Given the description of an element on the screen output the (x, y) to click on. 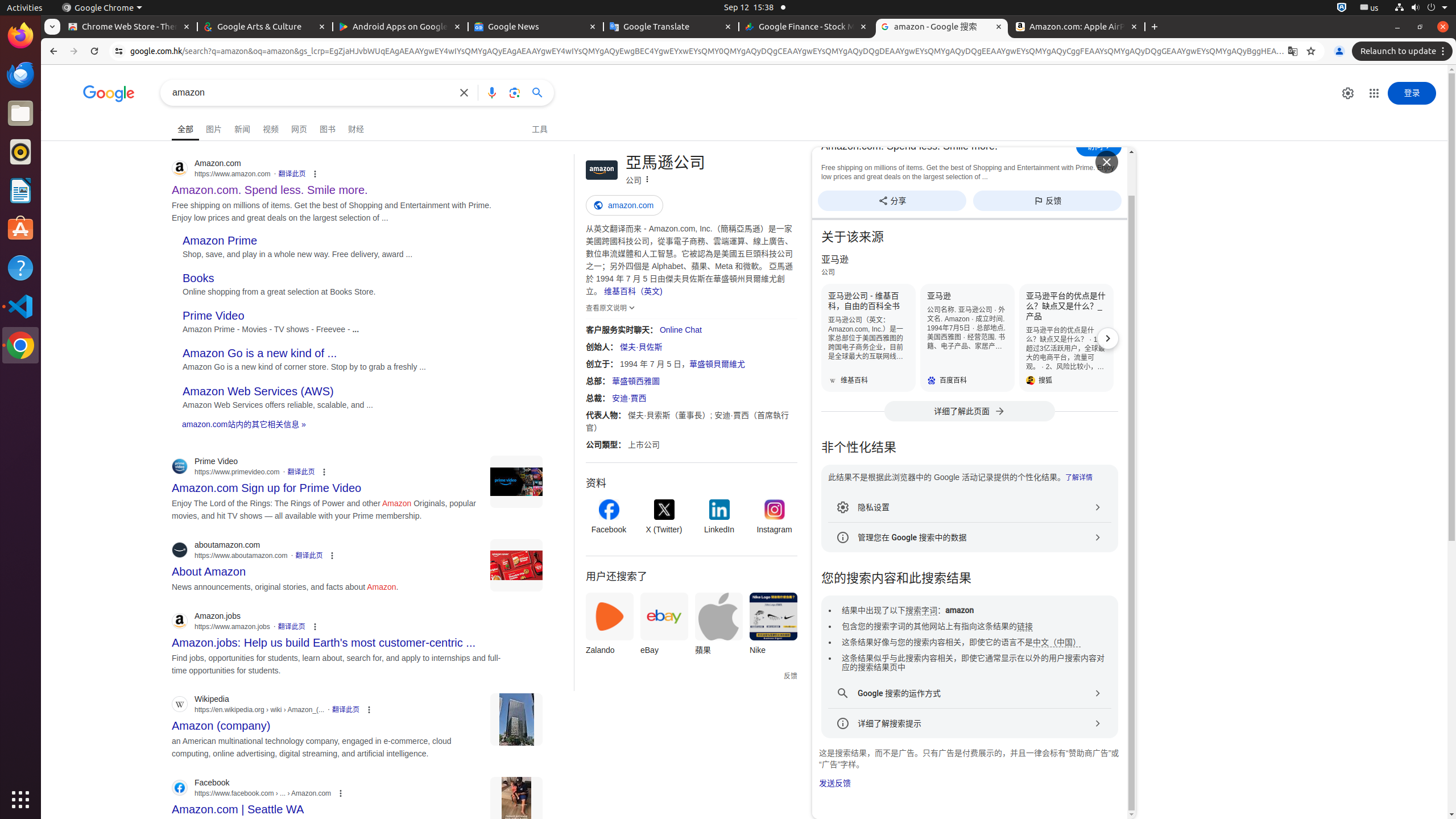
You Element type: push-button (1339, 50)
无障碍功能反馈 Element type: link (78, 123)
Back Element type: push-button (51, 50)
Amazon.com. Spend less. Smile more. Element type: link (945, 145)
按图搜索 Element type: push-button (514, 92)
